Given the description of an element on the screen output the (x, y) to click on. 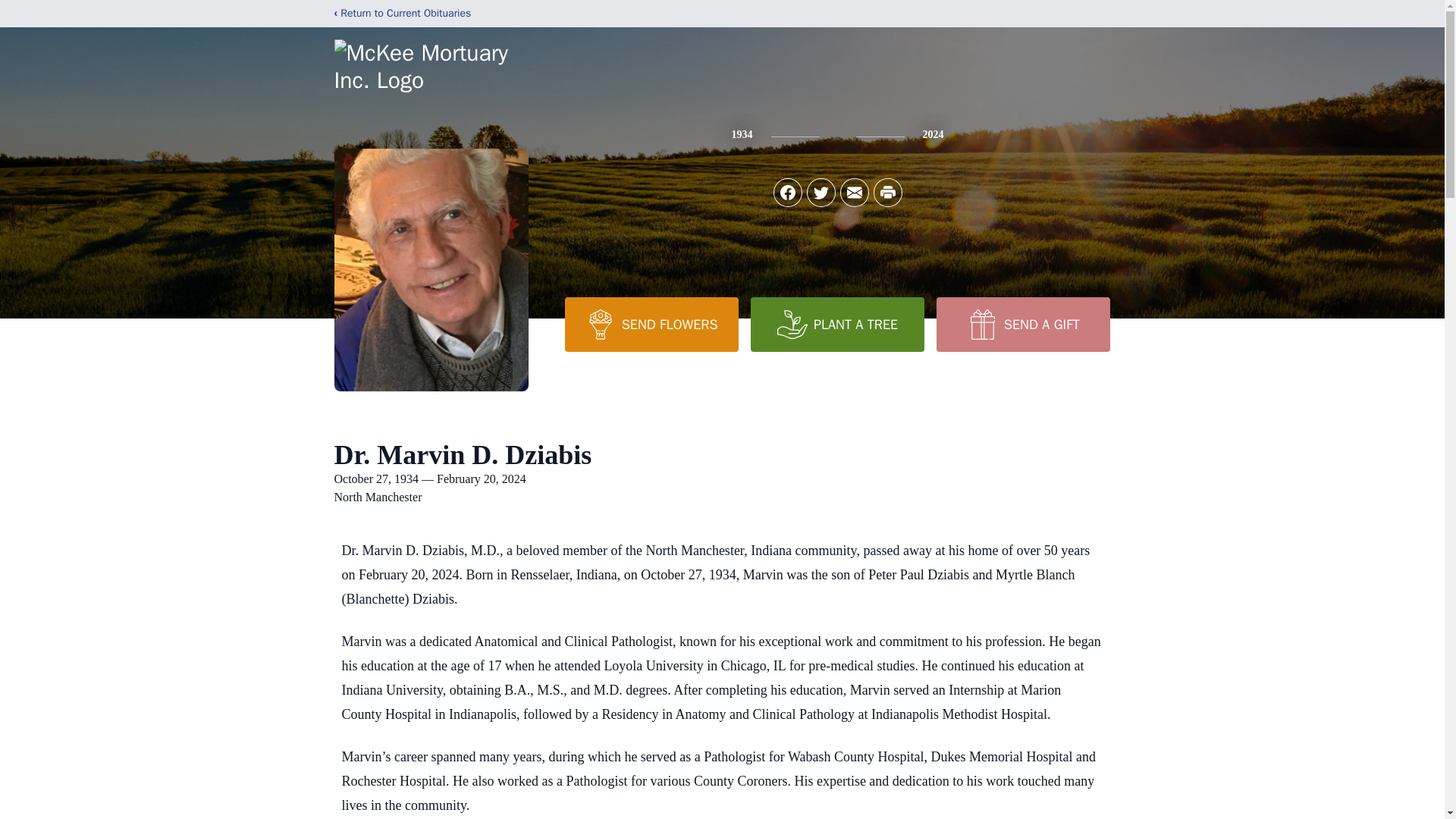
SEND FLOWERS (651, 324)
SEND A GIFT (1022, 324)
PLANT A TREE (837, 324)
